Given the description of an element on the screen output the (x, y) to click on. 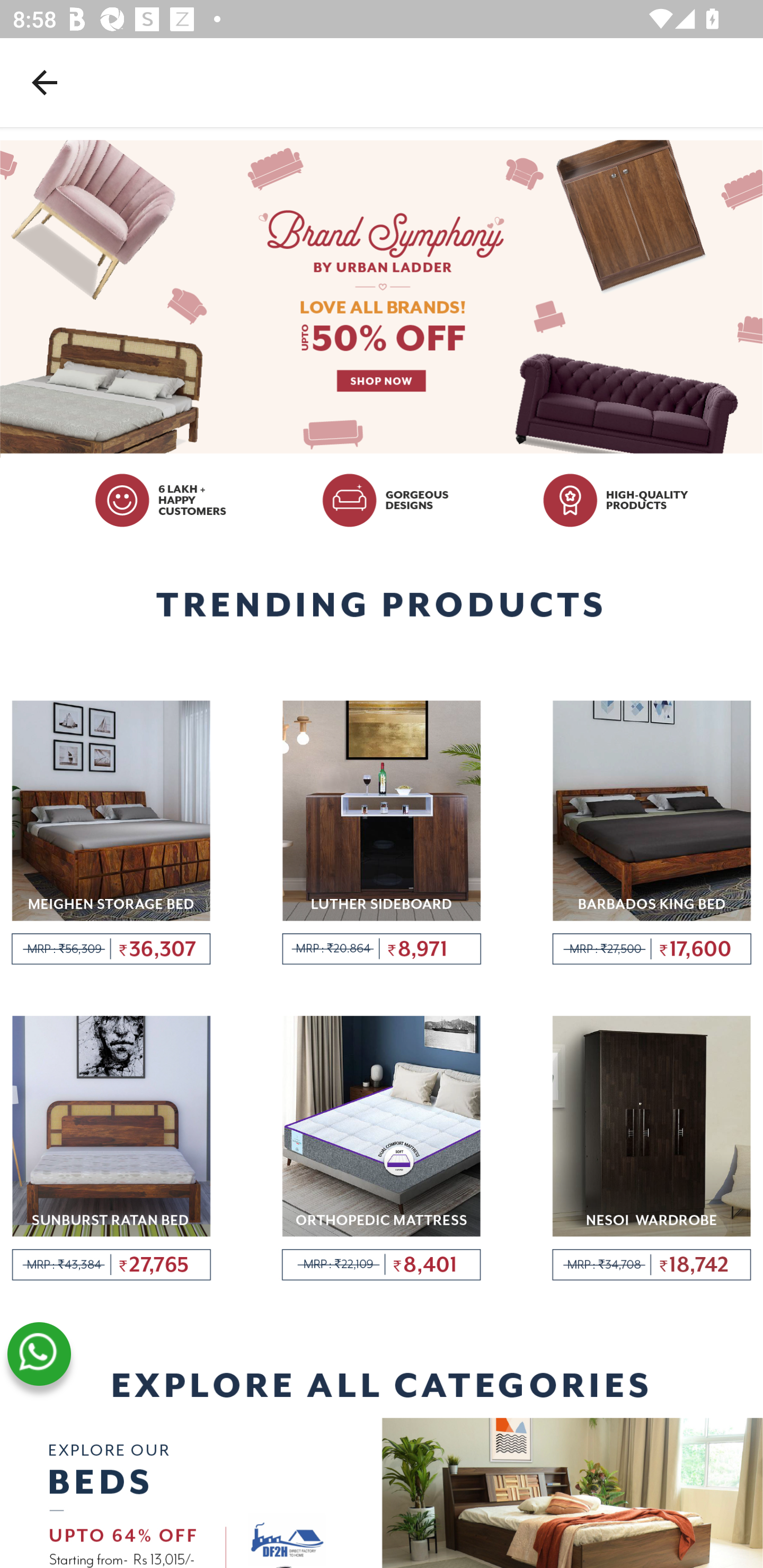
Navigate up (44, 82)
VMI_trending_products-1 (111, 833)
VMI_trending_prodcucts-2 (381, 833)
VMI_trending_prodcucts-3 (651, 833)
VMI_trending_prodcut-4 (111, 1149)
VMI_trending_prodcucts-6 (651, 1149)
whatsapp (38, 1353)
VMI_Explore_brands_Beds (381, 1491)
